Given the description of an element on the screen output the (x, y) to click on. 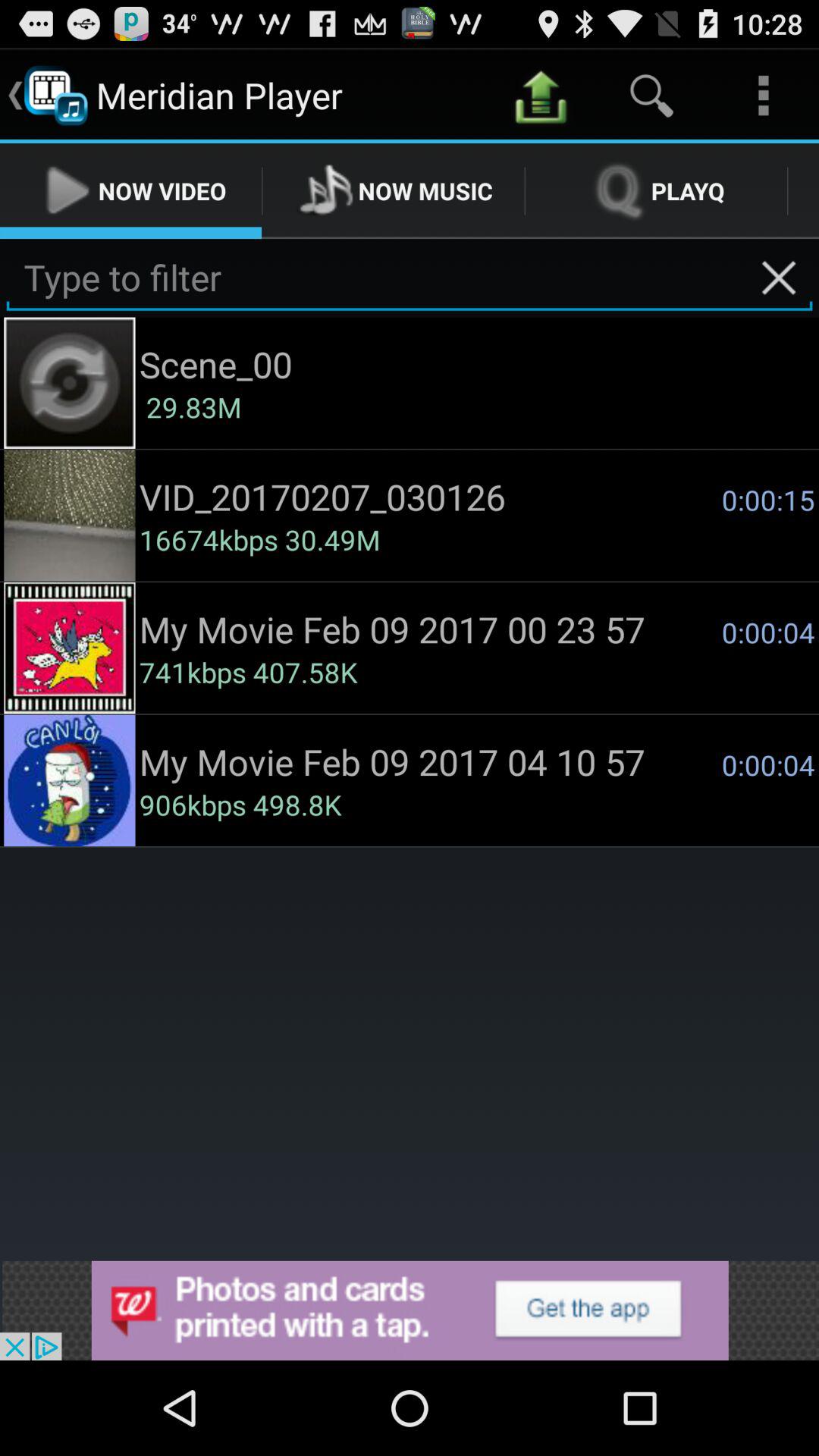
search box (409, 277)
